Given the description of an element on the screen output the (x, y) to click on. 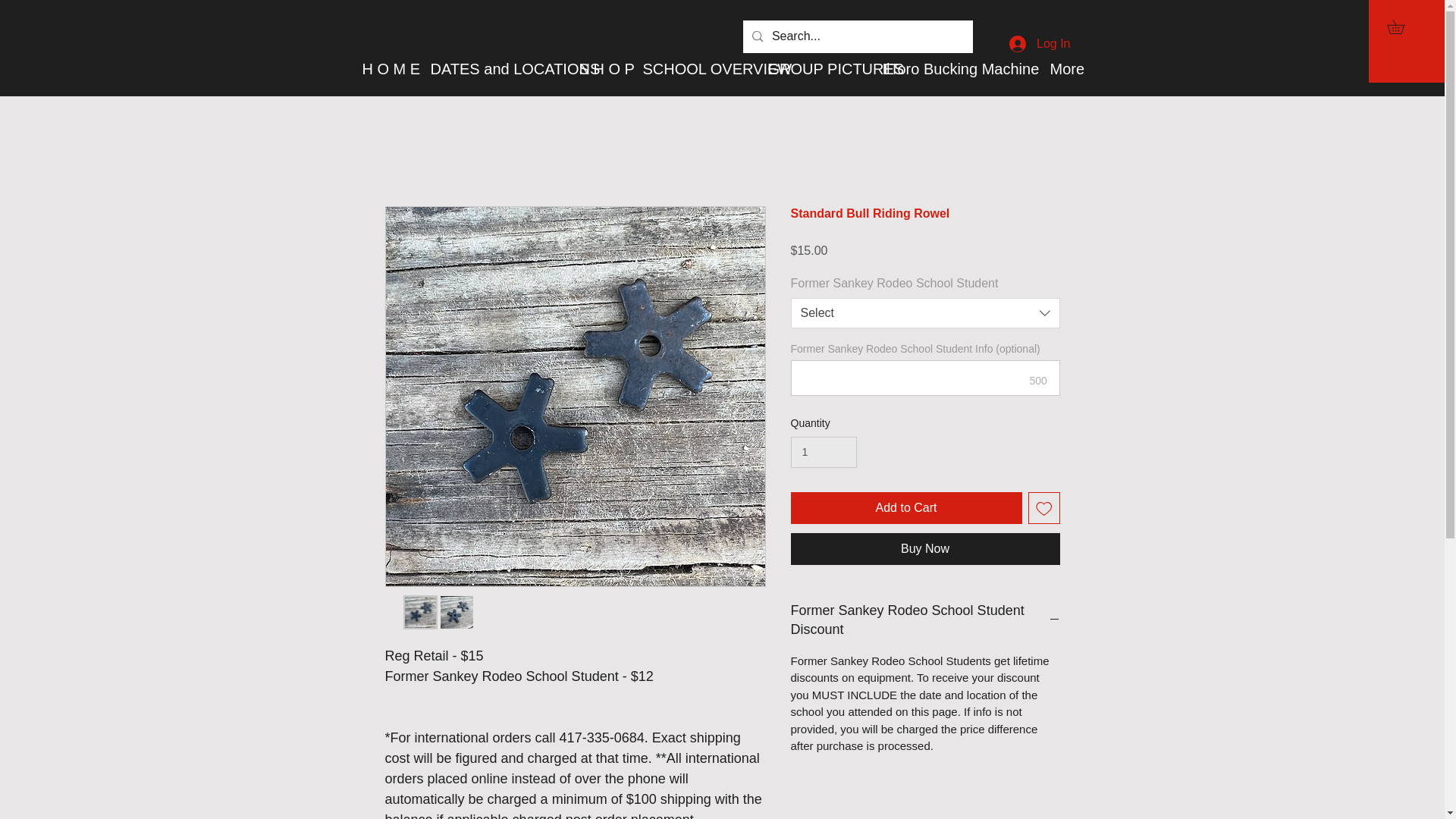
Former Sankey Rodeo School Student Discount (924, 620)
Add to Cart (906, 508)
Log In (1039, 43)
GROUP PICTURES (813, 68)
H O M E (384, 68)
Select (924, 313)
DATES and LOCATIONS (493, 68)
S H O P (598, 68)
IlToro Bucking Machine (954, 68)
SCHOOL OVERVIEW (692, 68)
1 (823, 451)
Buy Now (924, 549)
